Given the description of an element on the screen output the (x, y) to click on. 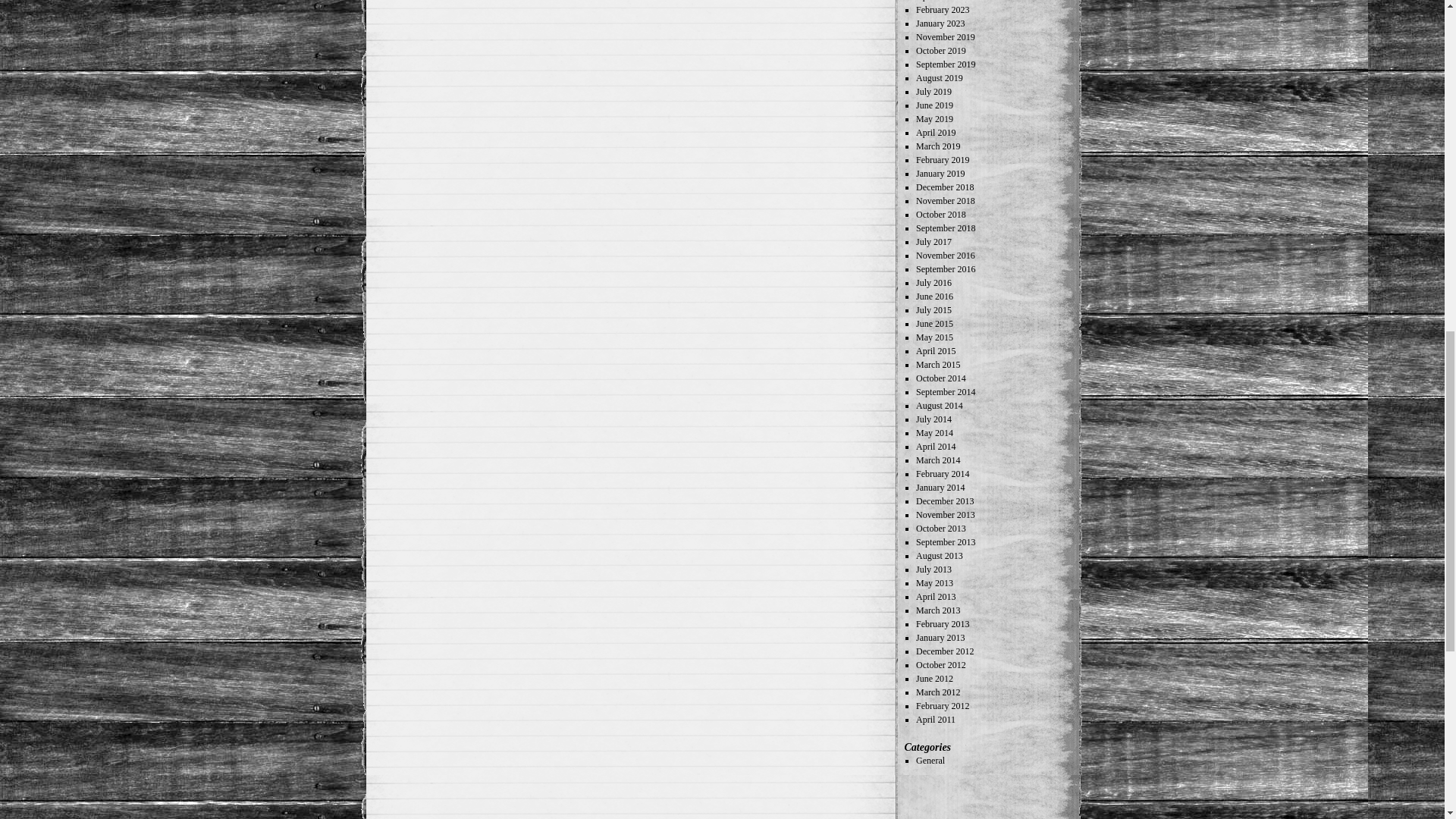
April 2023 (935, 0)
February 2023 (942, 9)
November 2019 (945, 36)
January 2023 (939, 23)
